Given the description of an element on the screen output the (x, y) to click on. 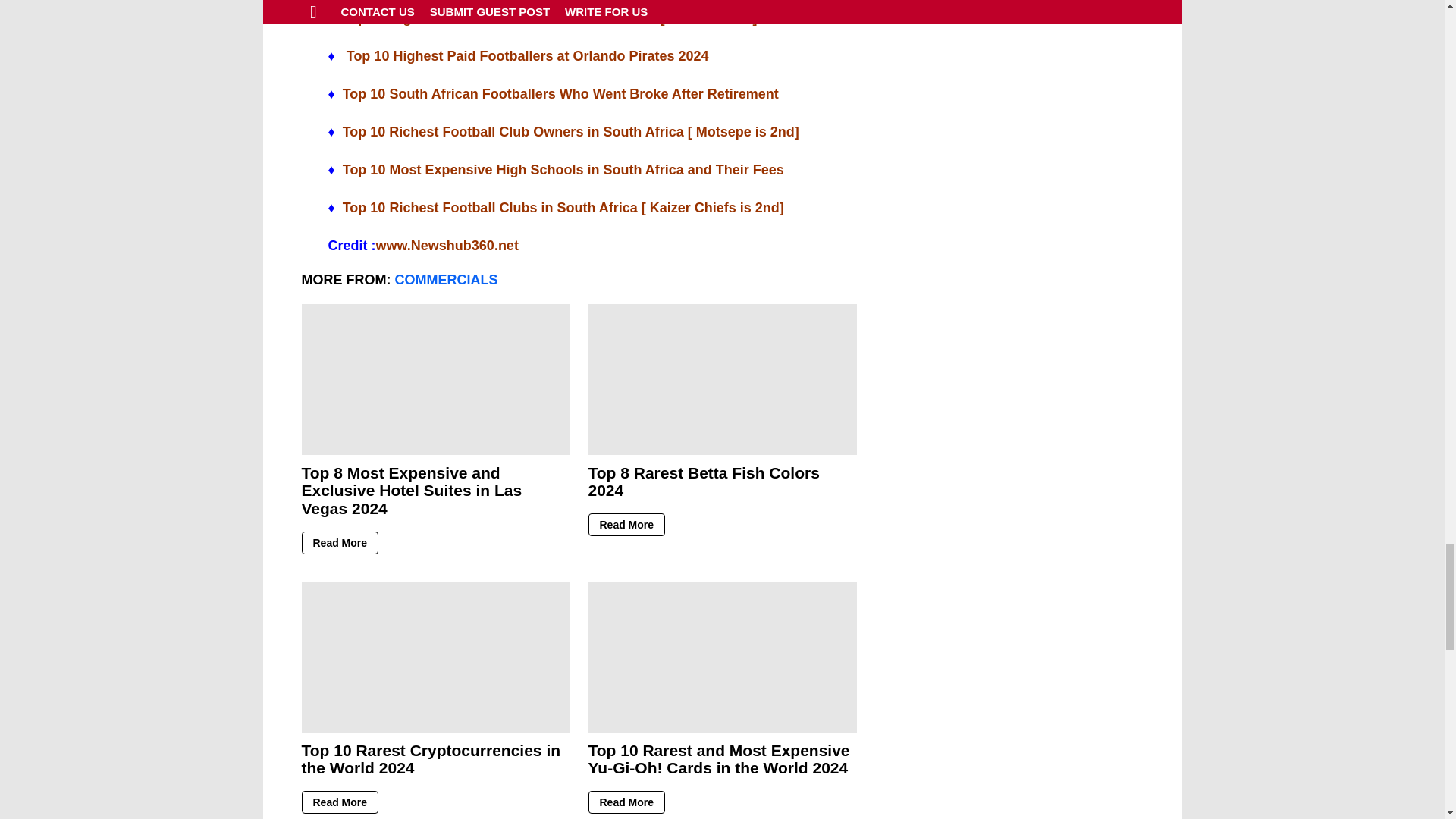
COMMERCIALS (445, 279)
Top 8 Rarest Betta Fish Colors 2024 (703, 481)
www.Newshub360.net (446, 245)
Read More (626, 524)
Top 8 Rarest Betta Fish Colors 2024 (722, 379)
Read More (339, 542)
